Given the description of an element on the screen output the (x, y) to click on. 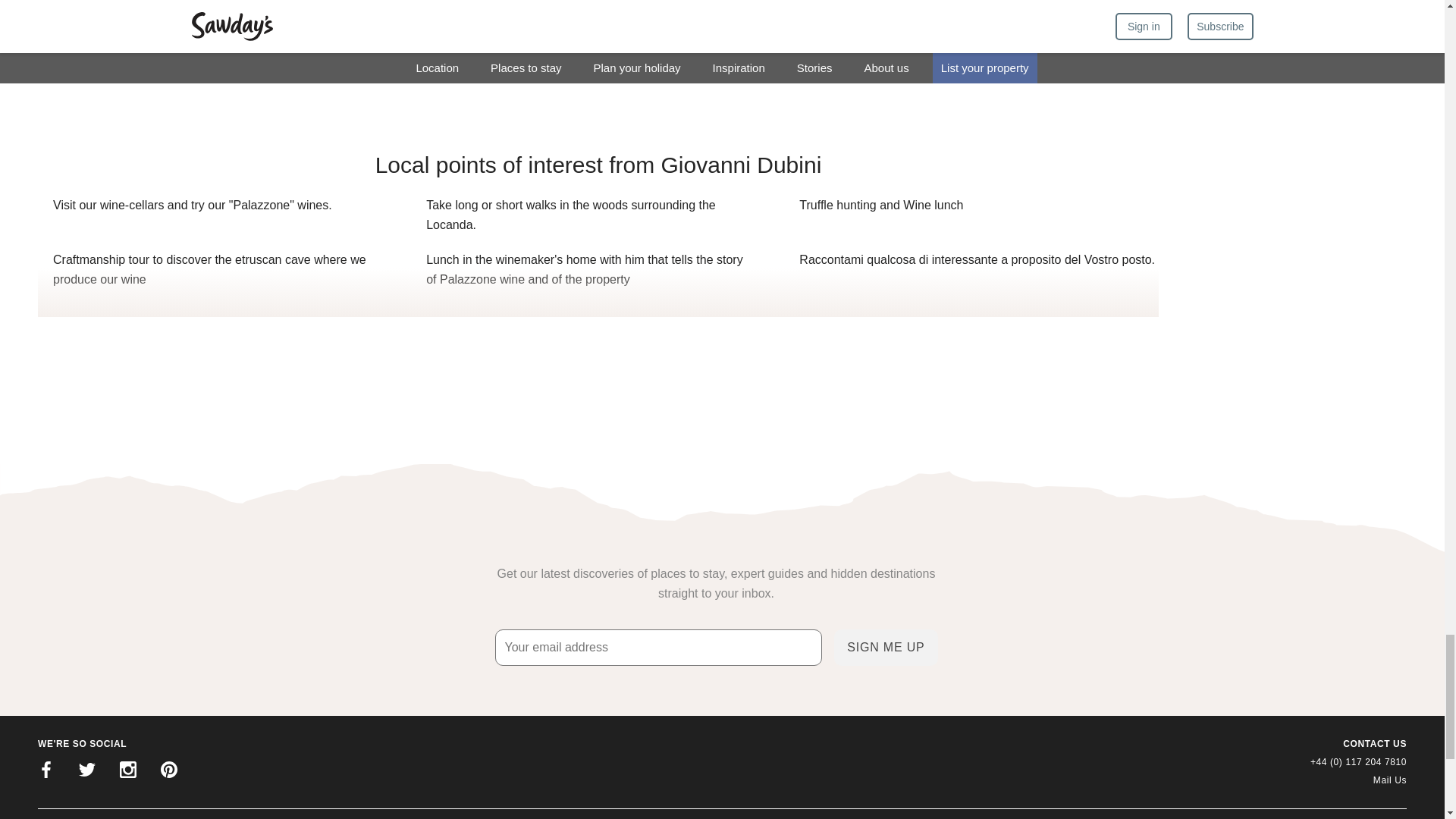
Facebook (46, 772)
SIGN ME UP (885, 647)
Twitter (86, 772)
Instagram (127, 772)
Pinterest (168, 772)
